Given the description of an element on the screen output the (x, y) to click on. 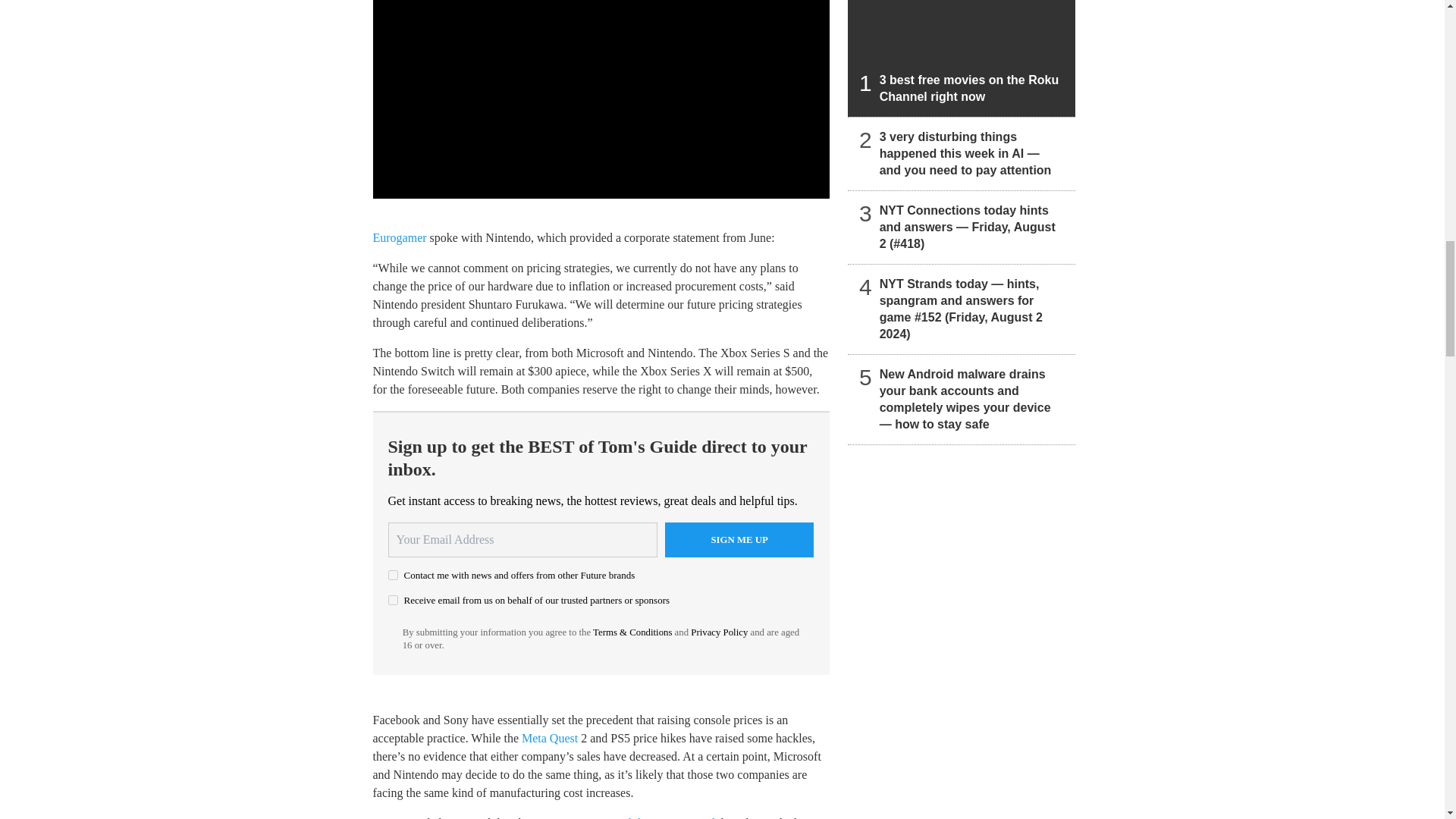
3 best free movies on the Roku Channel right now (961, 58)
on (392, 574)
Sign me up (739, 539)
on (392, 600)
